Given the description of an element on the screen output the (x, y) to click on. 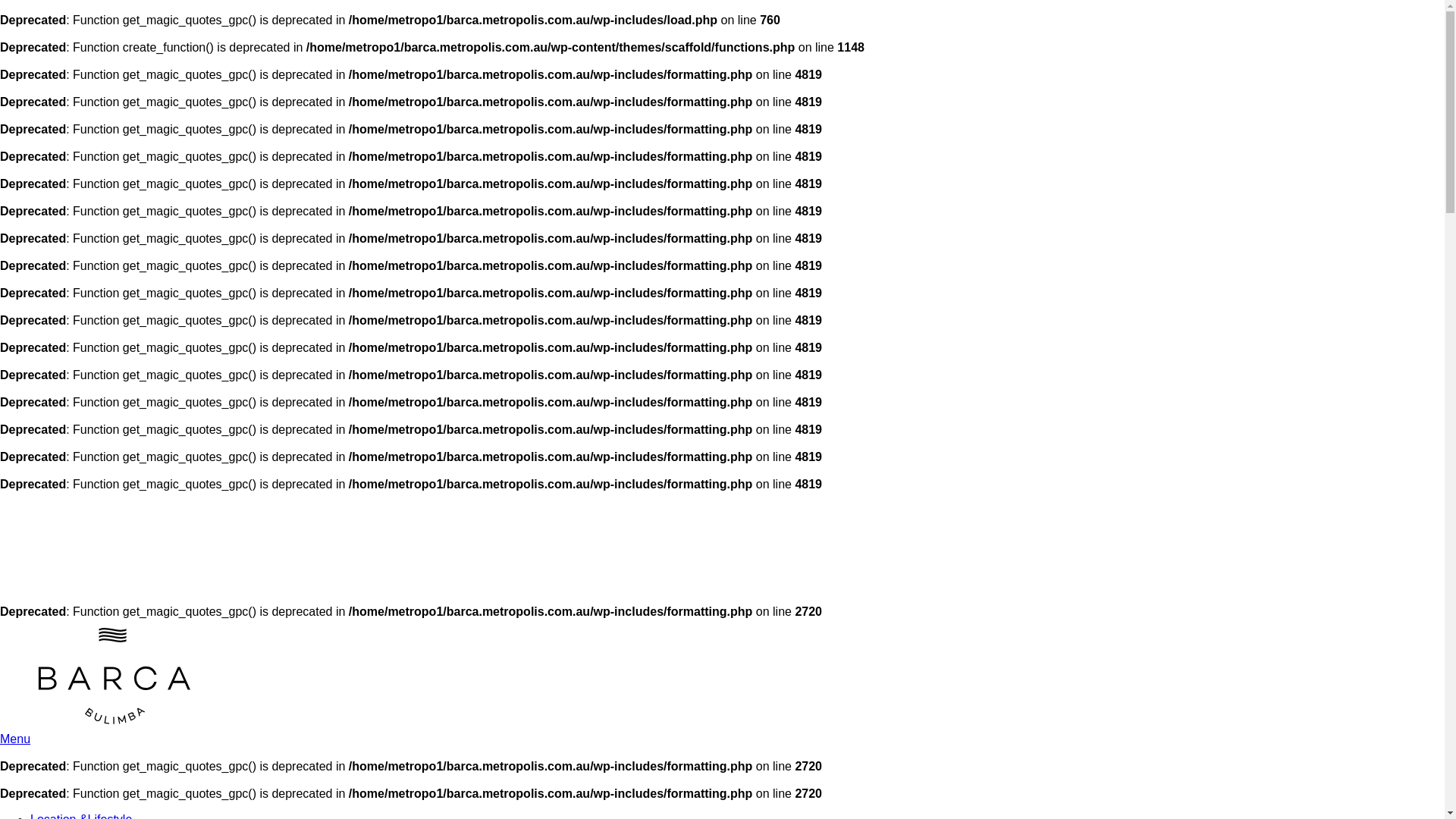
Menu Element type: text (15, 738)
